Given the description of an element on the screen output the (x, y) to click on. 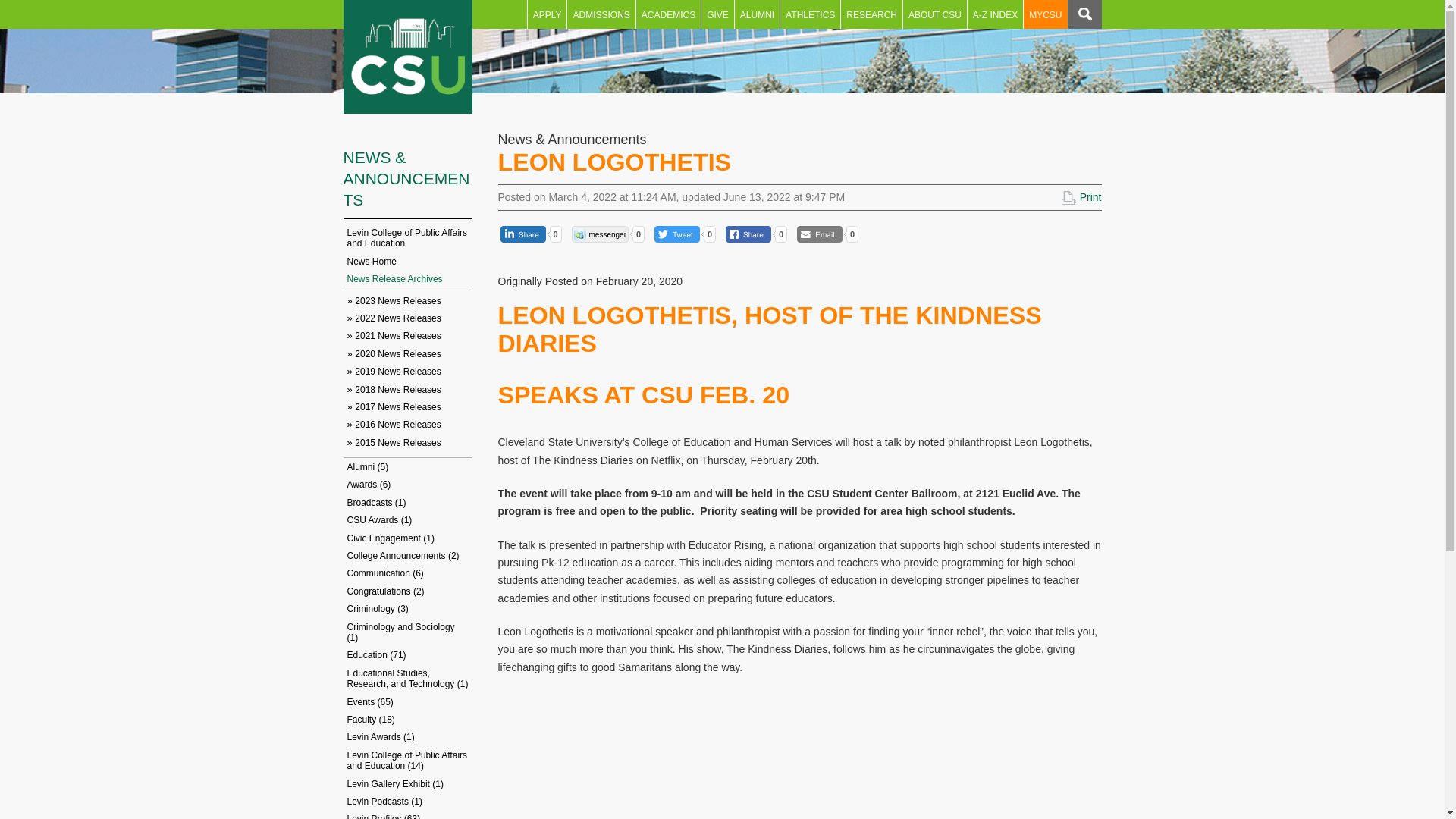
Academics (668, 14)
APPLY (547, 14)
ADMISSIONS (600, 14)
ATHLETICS (810, 14)
GIVE (717, 14)
Home (406, 56)
RESEARCH (871, 14)
Search this site (1083, 14)
ACADEMICS (668, 14)
Admissions (600, 14)
ALUMNI (756, 14)
